Given the description of an element on the screen output the (x, y) to click on. 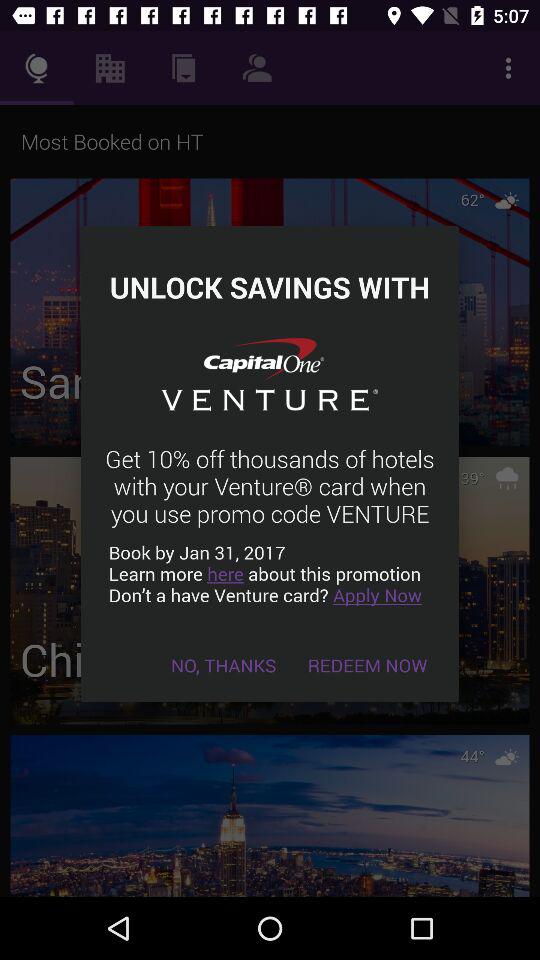
choose book by jan (269, 573)
